Given the description of an element on the screen output the (x, y) to click on. 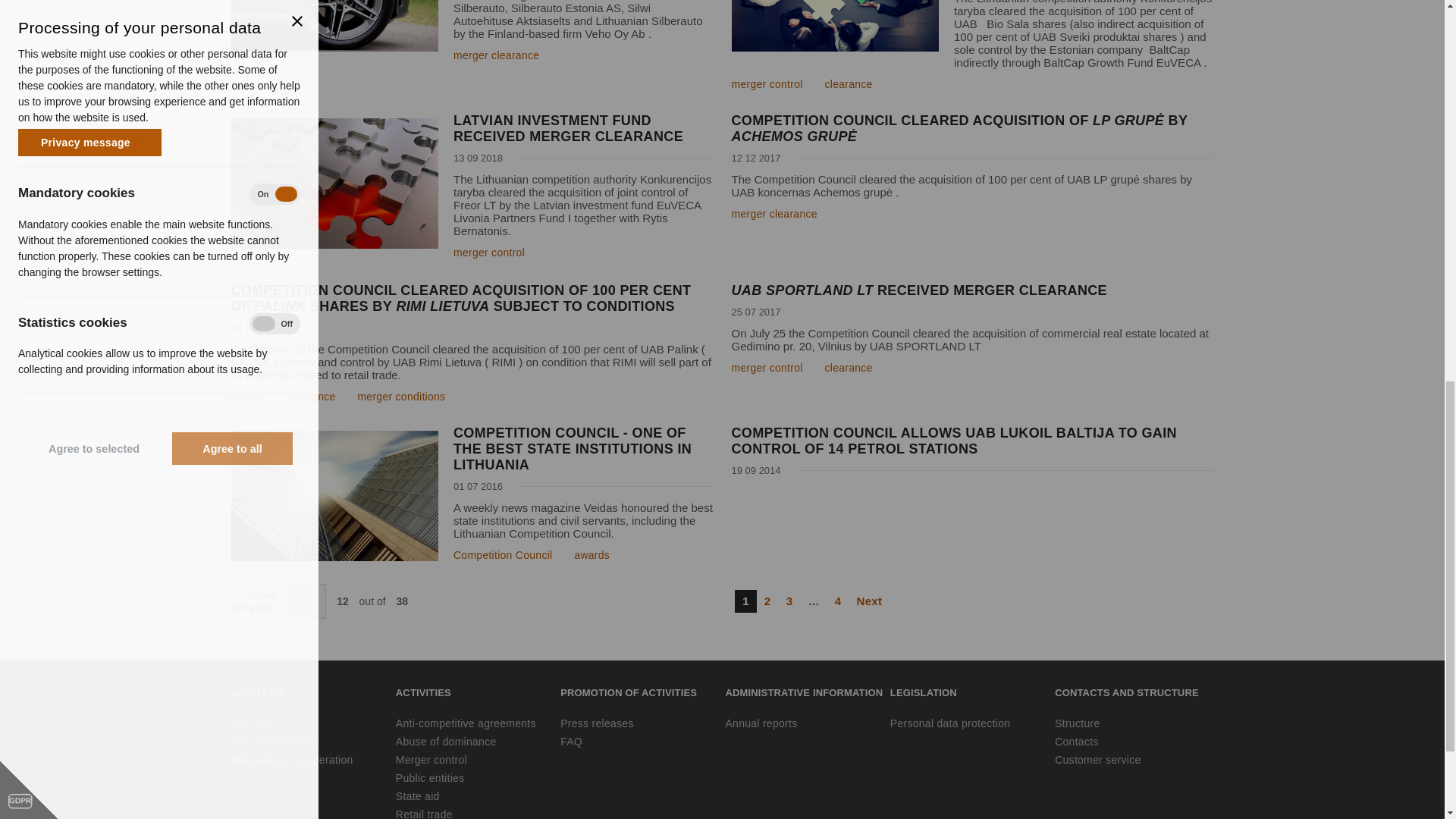
12 (305, 601)
UAB SPORTLAND LT  RECEIVED MERGER CLEARANCE (971, 290)
LATVIAN INVESTMENT FUND RECEIVED MERGER CLEARANCE (471, 128)
